Given the description of an element on the screen output the (x, y) to click on. 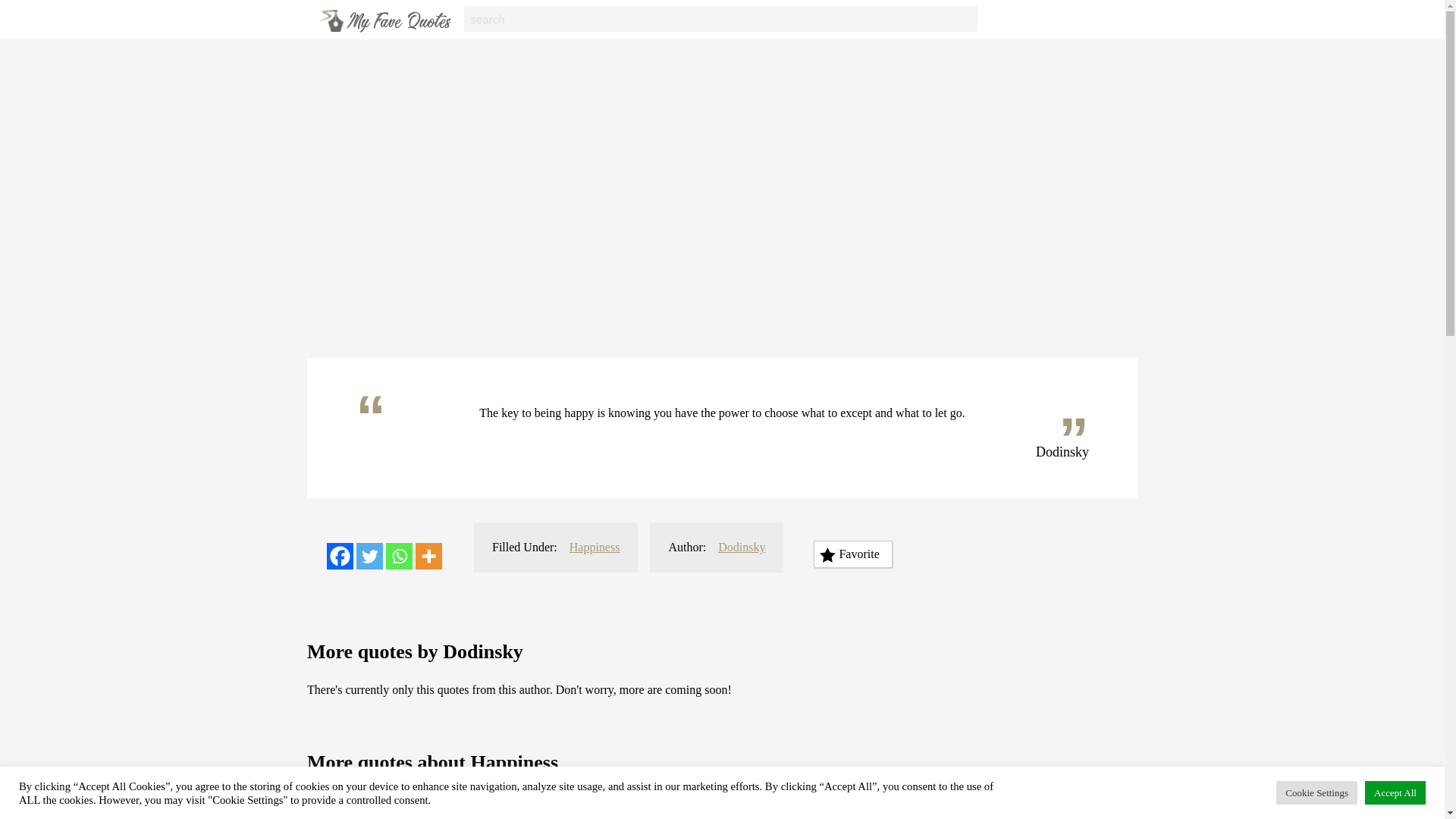
Happiness (594, 546)
Dodinsky (741, 546)
Whatsapp (398, 555)
More (428, 555)
Twitter (369, 555)
Facebook (339, 555)
